Given the description of an element on the screen output the (x, y) to click on. 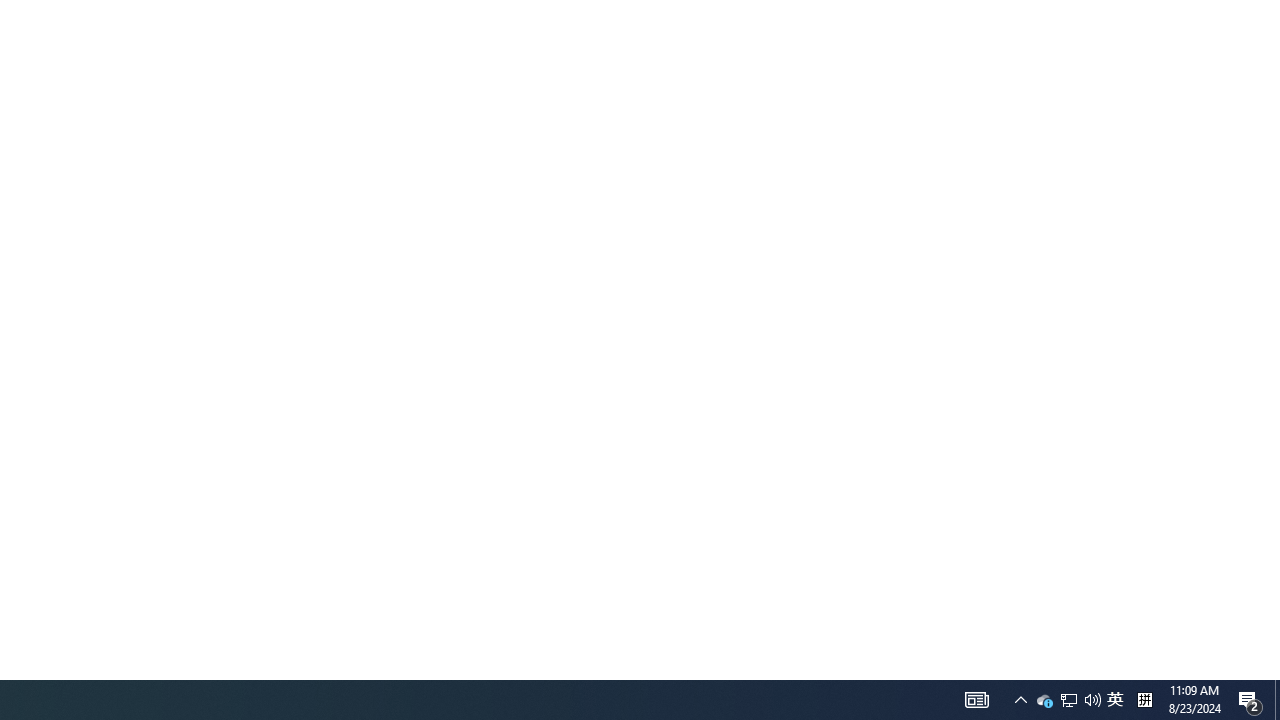
Tray Input Indicator - Chinese (Simplified, China) (1069, 699)
Action Center, 2 new notifications (1144, 699)
Q2790: 100% (1250, 699)
Notification Chevron (1092, 699)
User Promoted Notification Area (1020, 699)
Show desktop (1044, 699)
AutomationID: 4105 (1115, 699)
